Given the description of an element on the screen output the (x, y) to click on. 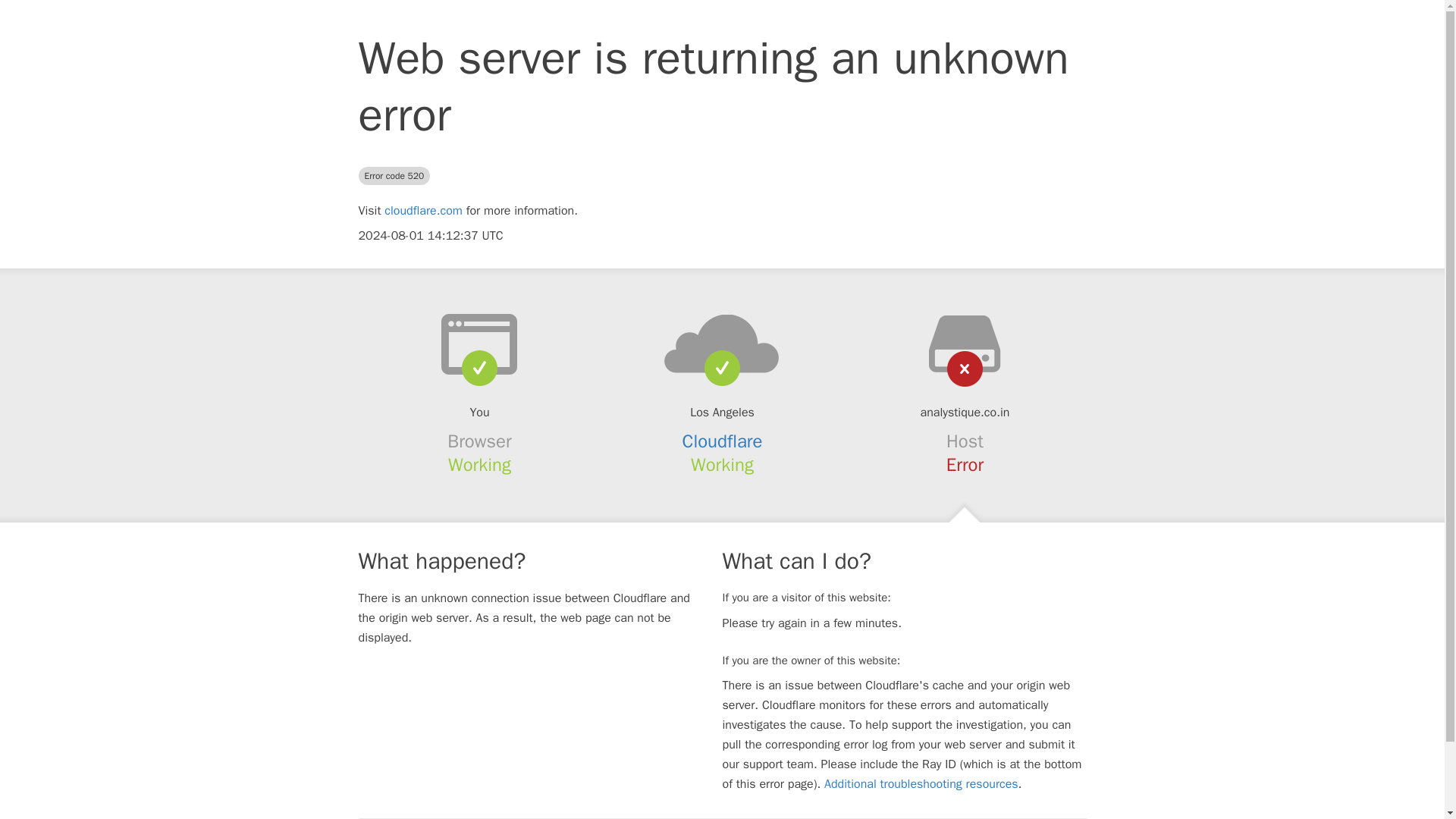
Cloudflare (722, 440)
cloudflare.com (423, 210)
Additional troubleshooting resources (920, 783)
